Given the description of an element on the screen output the (x, y) to click on. 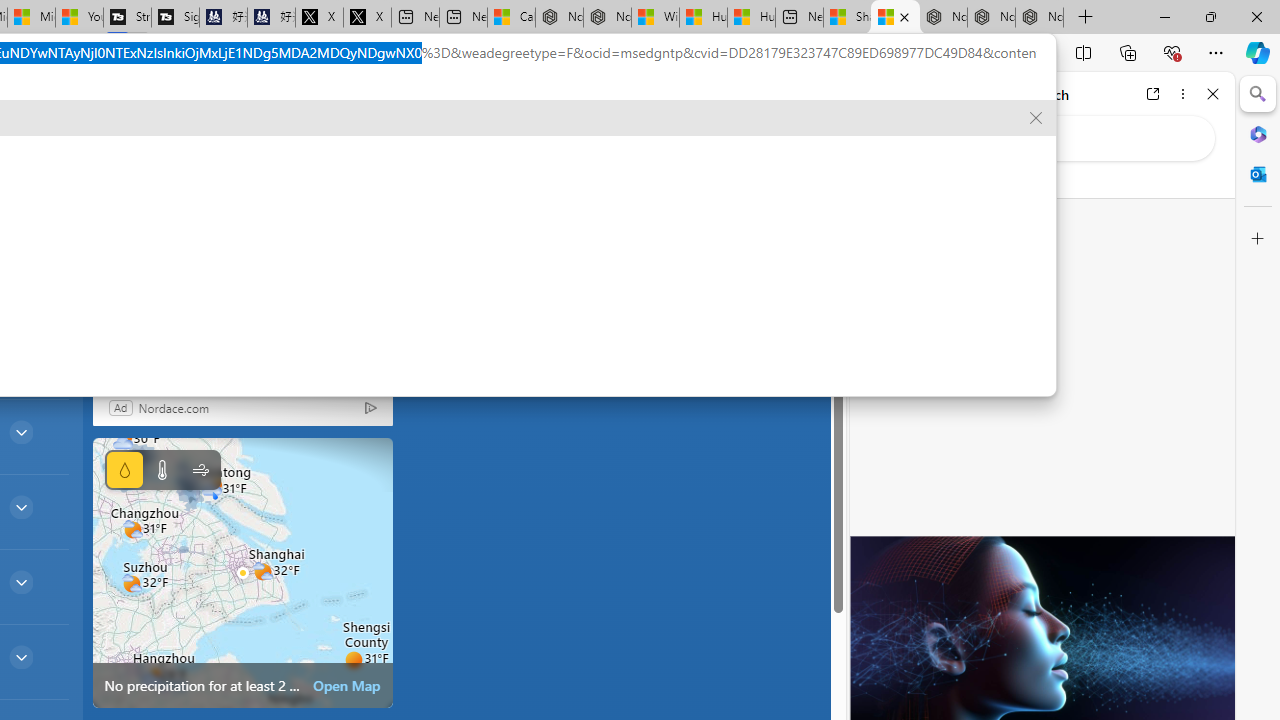
n3200 (232, 215)
Shanghai, China hourly forecast | Microsoft Weather (895, 17)
Earthquakes (65, 162)
Open Copilot (132, 105)
Wildlife - MSN (655, 17)
Nordace - Summer Adventures 2024 (607, 17)
Notifications (746, 105)
